Given the description of an element on the screen output the (x, y) to click on. 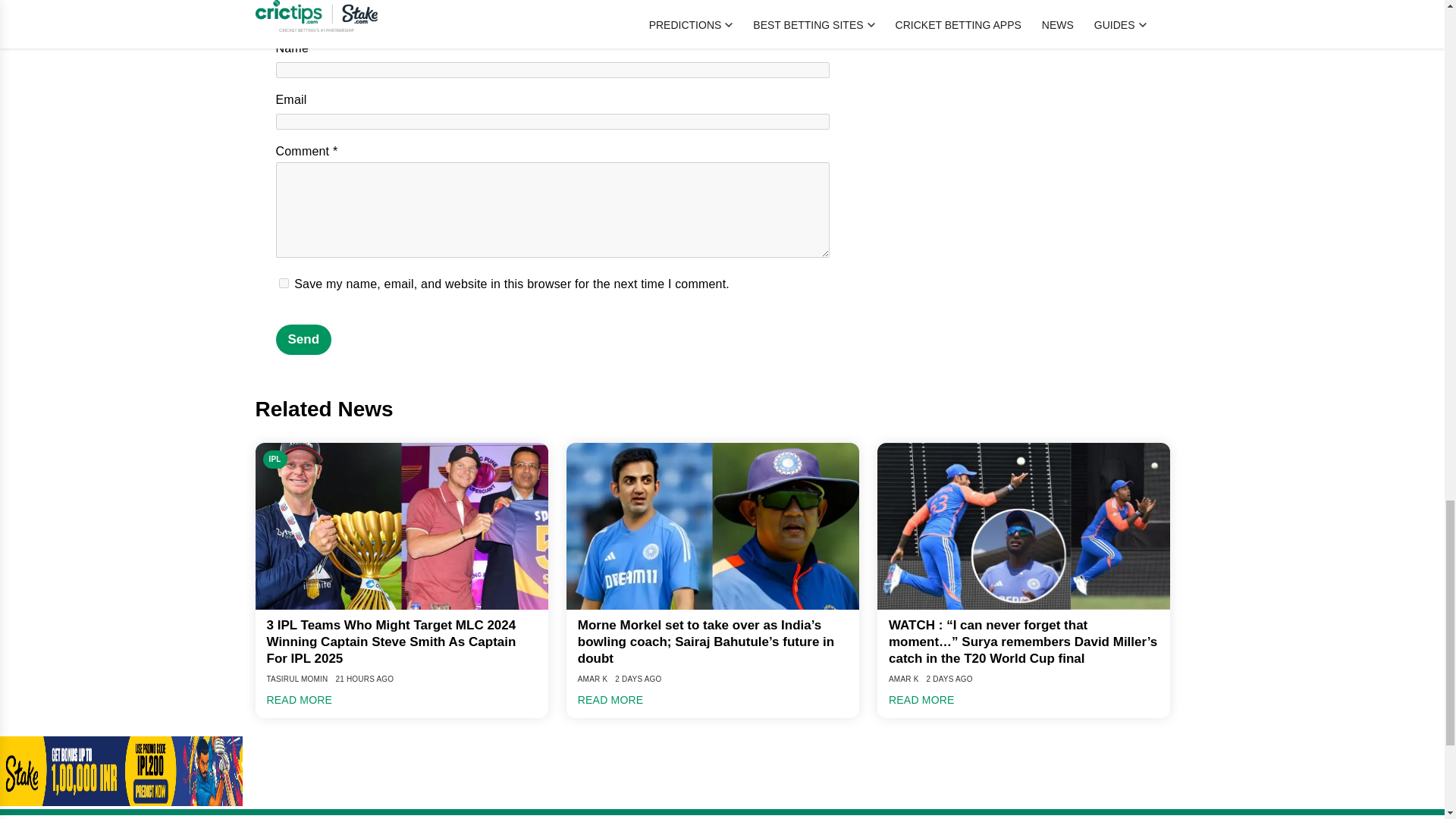
Send (303, 339)
yes (283, 283)
